Given the description of an element on the screen output the (x, y) to click on. 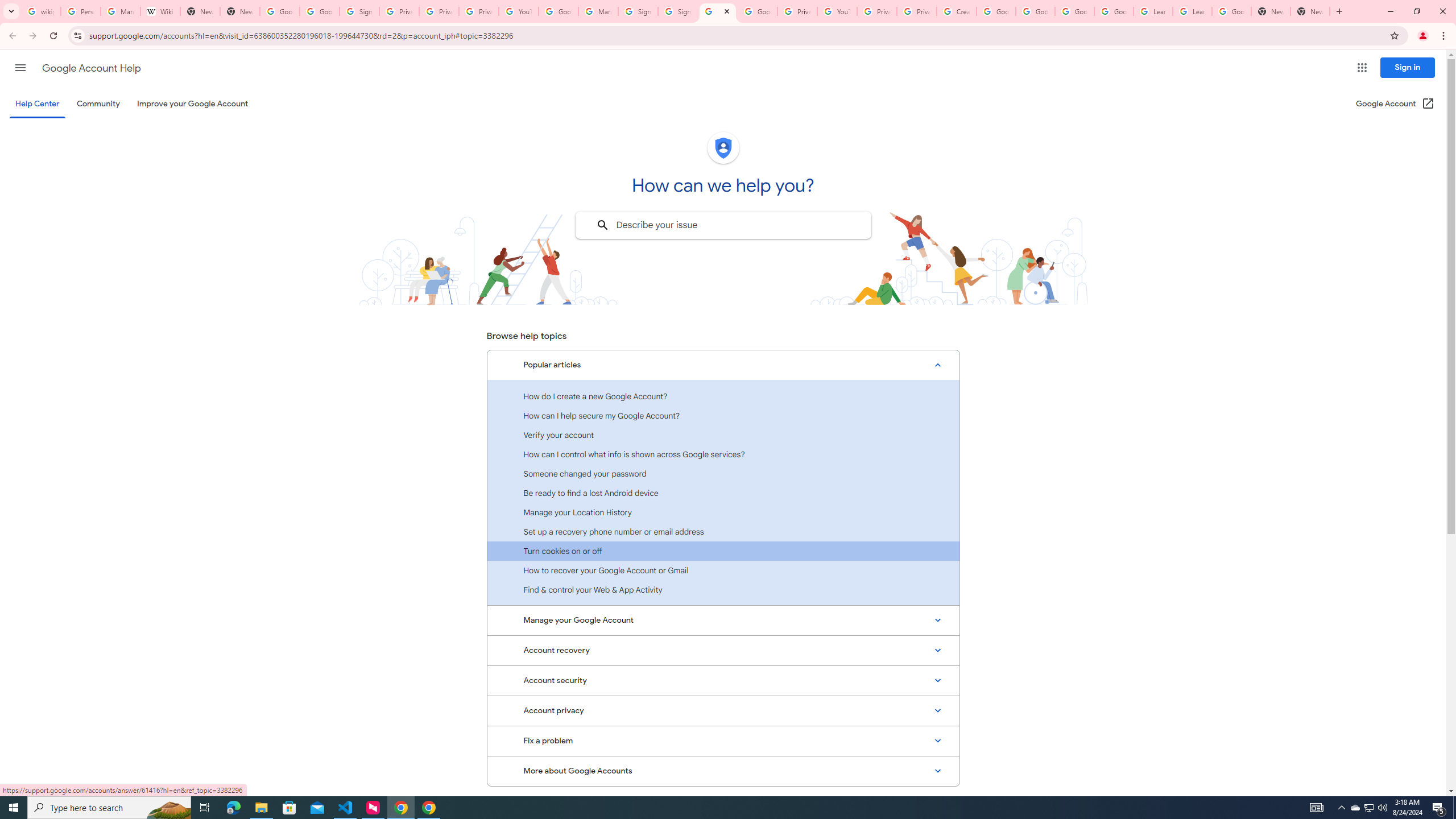
How can I control what info is shown across Google services? (722, 454)
Account security (722, 680)
